Given the description of an element on the screen output the (x, y) to click on. 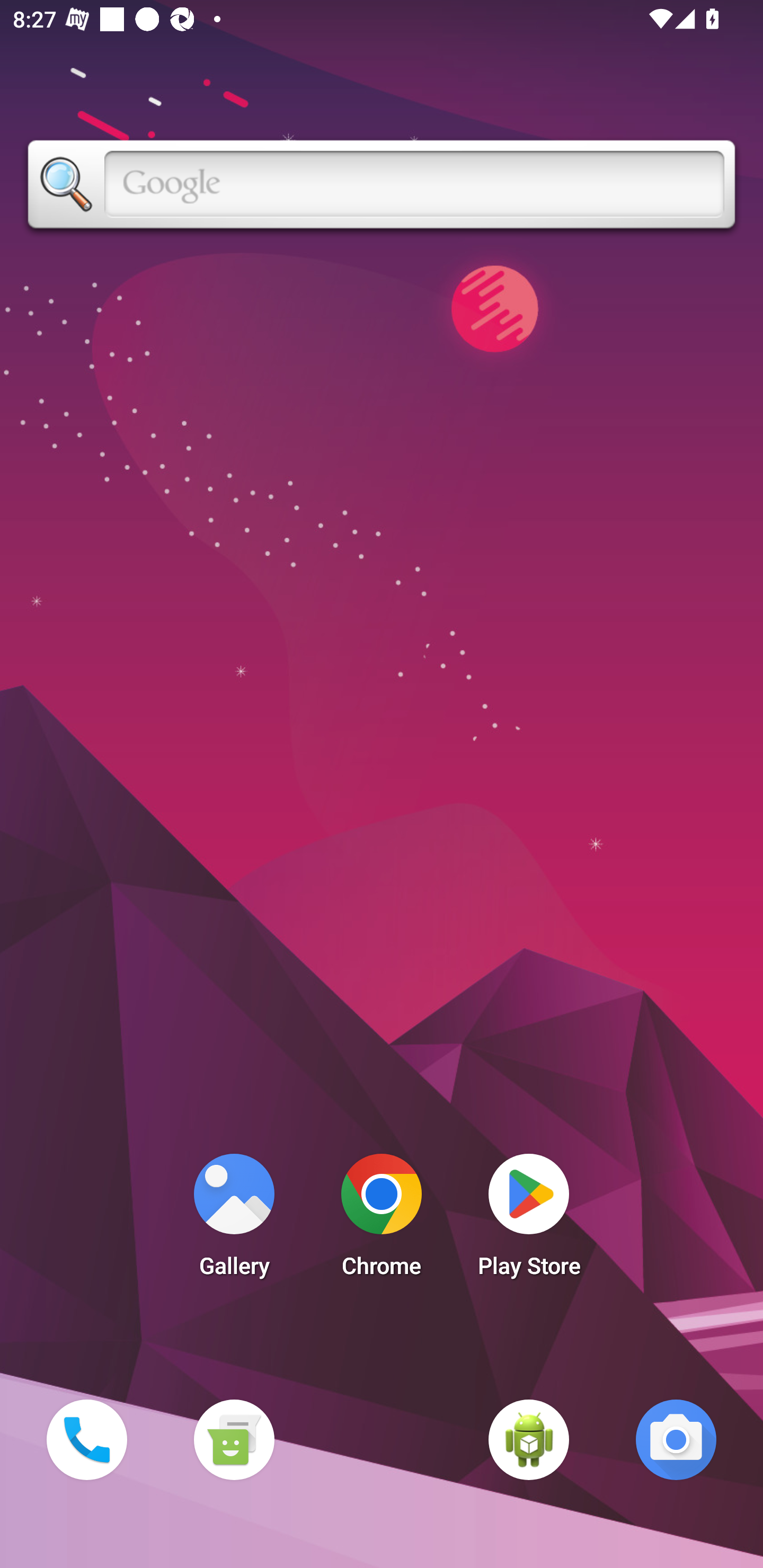
Gallery (233, 1220)
Chrome (381, 1220)
Play Store (528, 1220)
Phone (86, 1439)
Messaging (233, 1439)
WebView Browser Tester (528, 1439)
Camera (676, 1439)
